Given the description of an element on the screen output the (x, y) to click on. 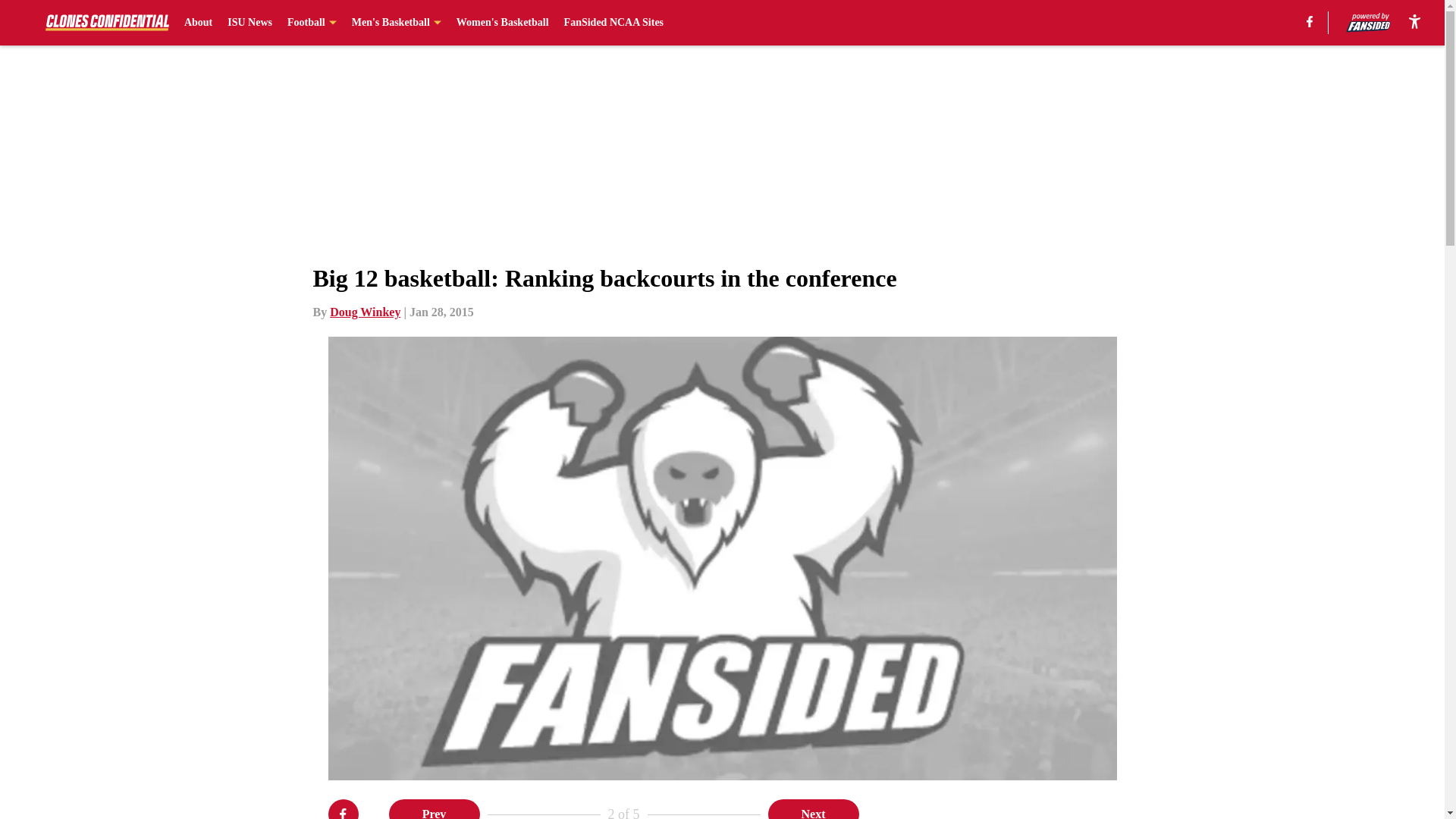
Women's Basketball (502, 22)
FanSided NCAA Sites (613, 22)
Doug Winkey (365, 311)
Prev (433, 809)
ISU News (249, 22)
About (198, 22)
Next (813, 809)
